Given the description of an element on the screen output the (x, y) to click on. 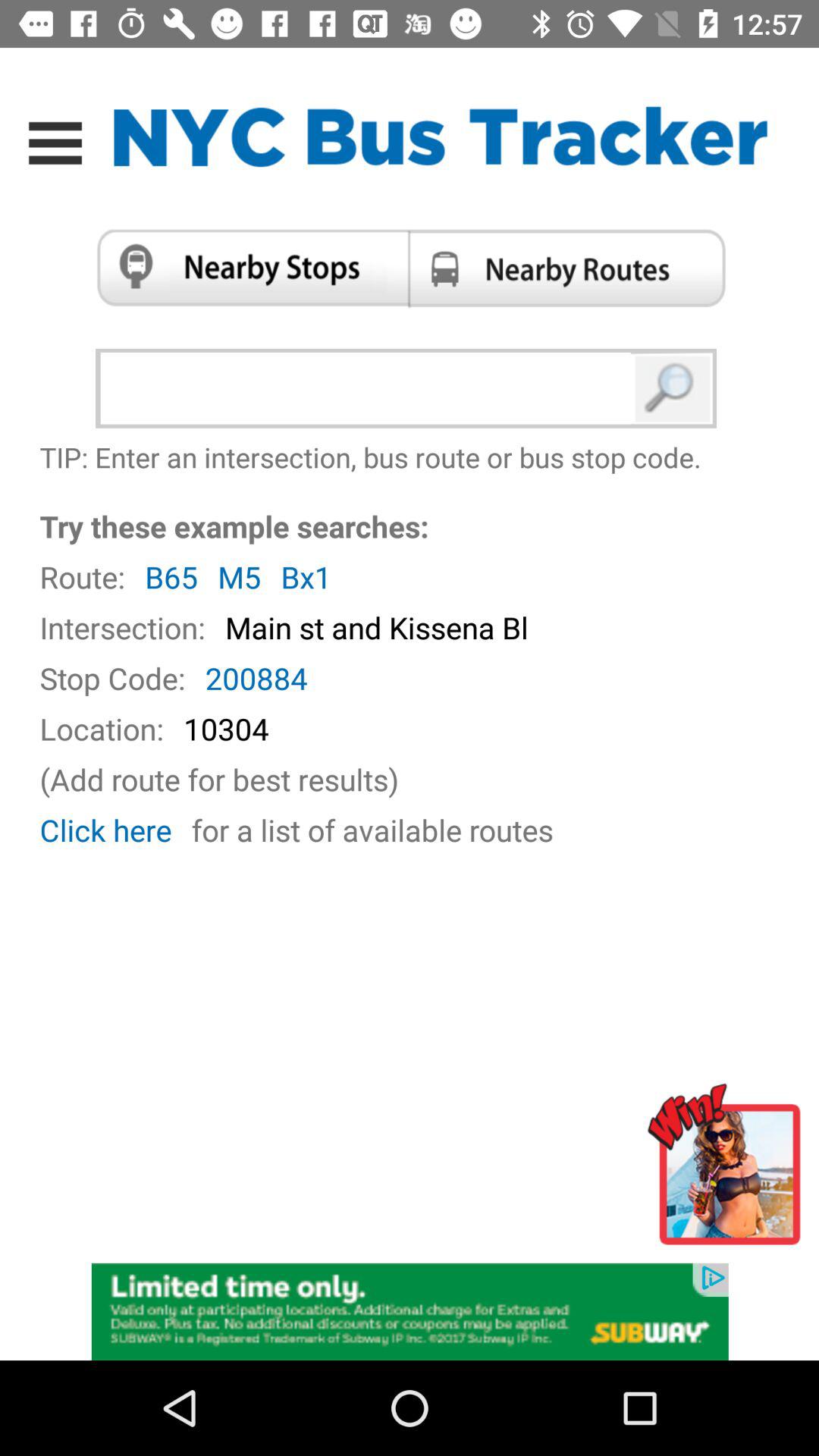
advertise an app (729, 1170)
